Given the description of an element on the screen output the (x, y) to click on. 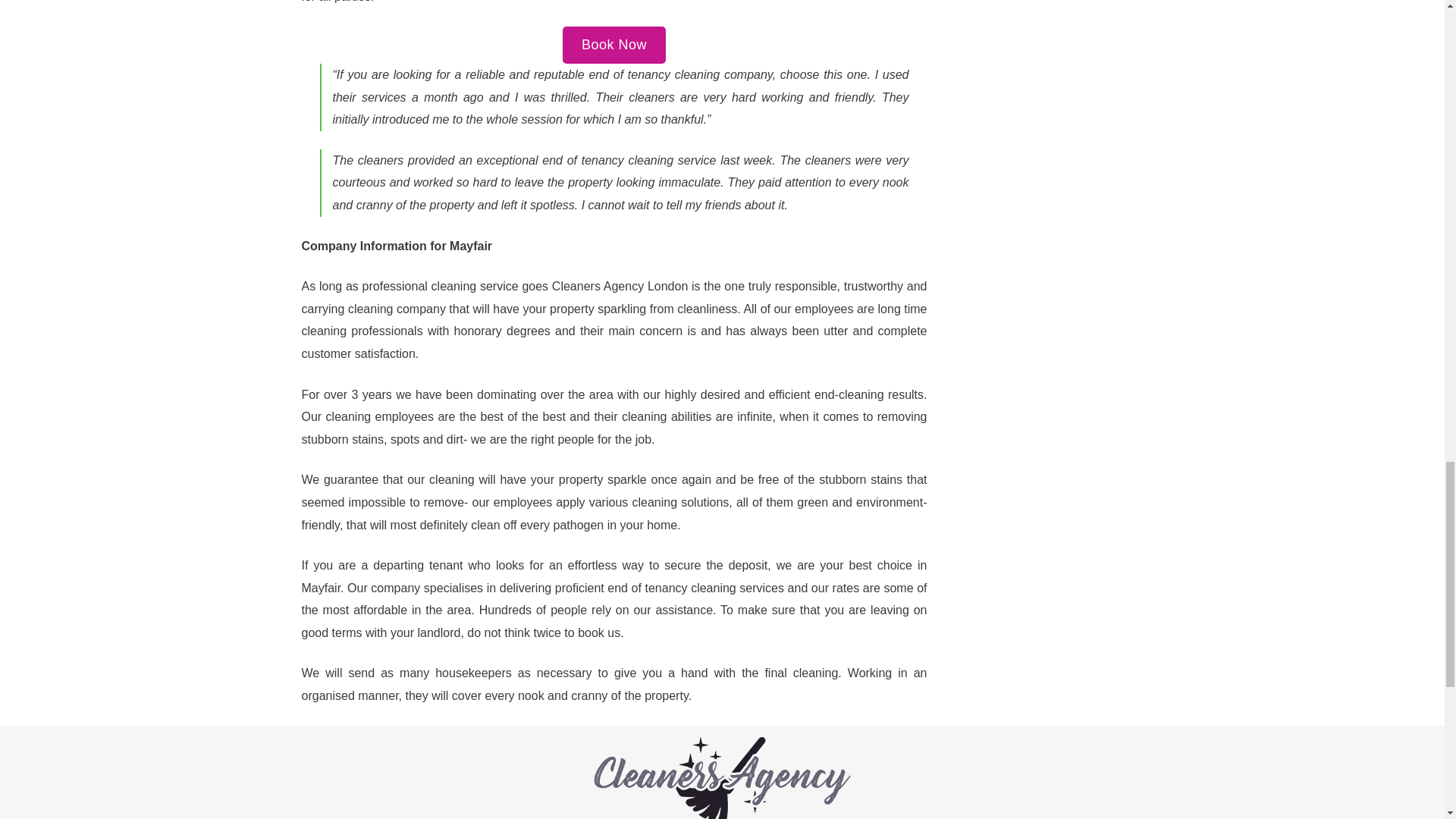
Book Now (613, 44)
